Given the description of an element on the screen output the (x, y) to click on. 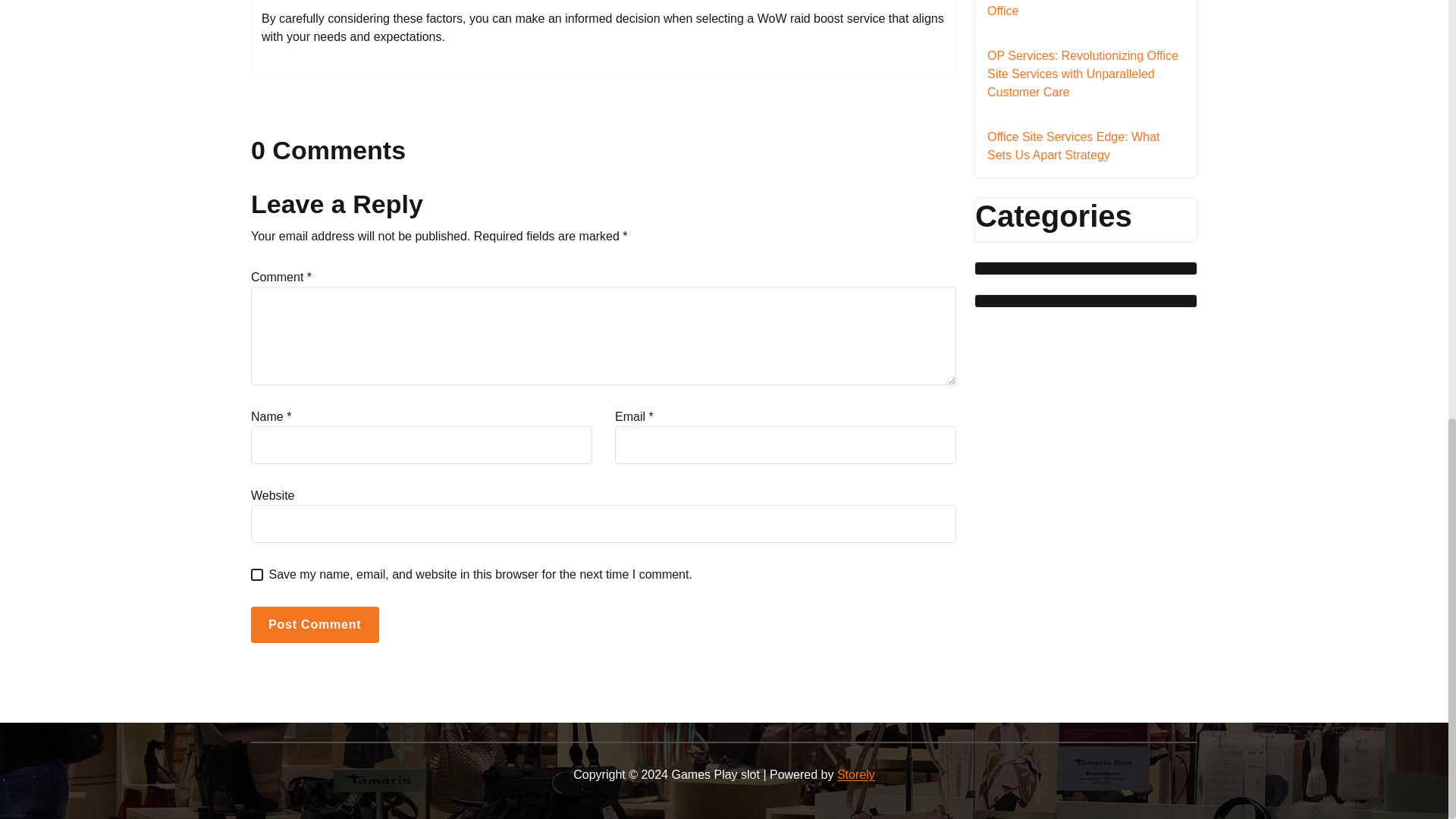
yes (256, 574)
Post Comment (314, 624)
